Given the description of an element on the screen output the (x, y) to click on. 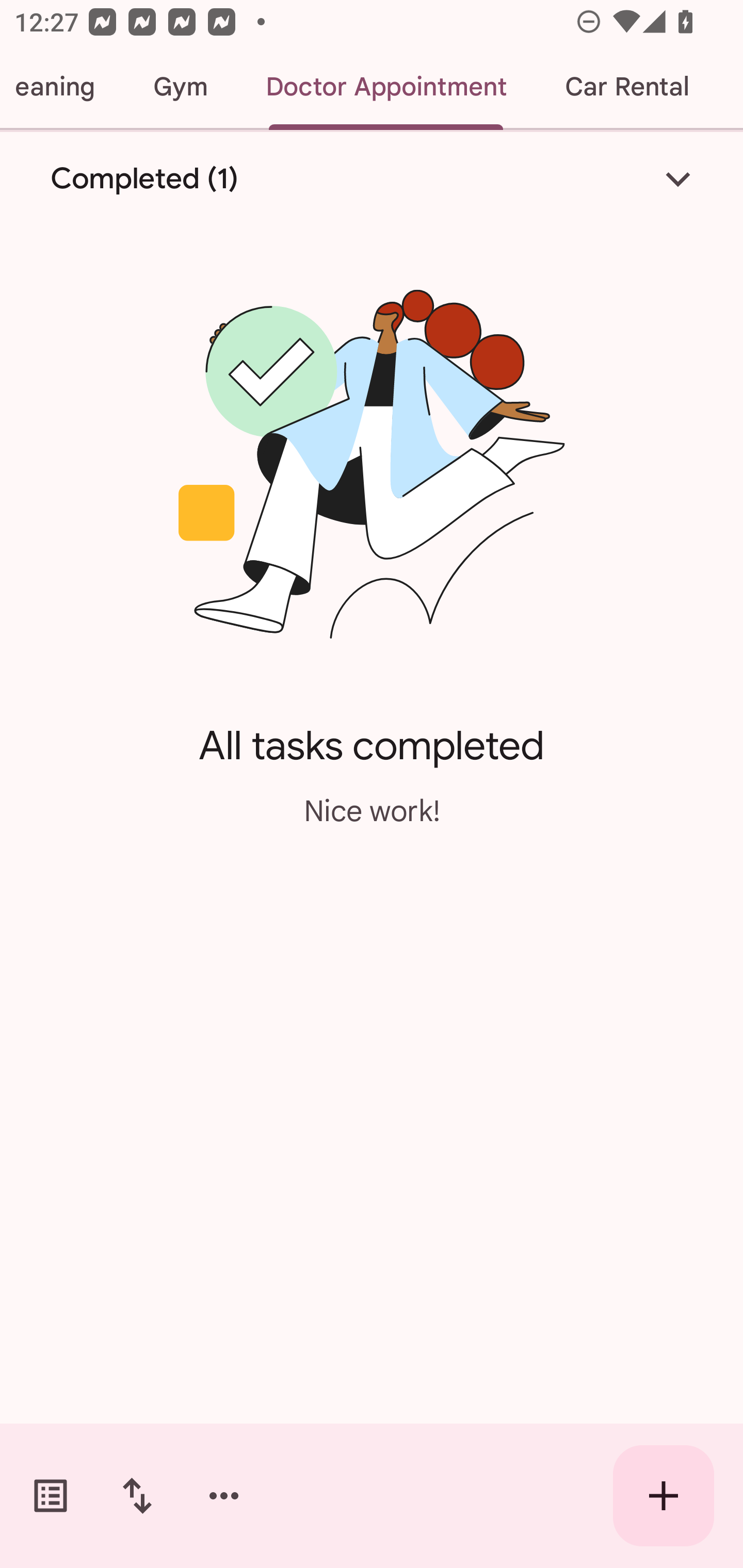
Cleaning (62, 86)
Gym (180, 86)
Car Rental (626, 86)
Completed (1) (371, 178)
Switch task lists (50, 1495)
Create new task (663, 1495)
Change sort order (136, 1495)
More options (223, 1495)
